Given the description of an element on the screen output the (x, y) to click on. 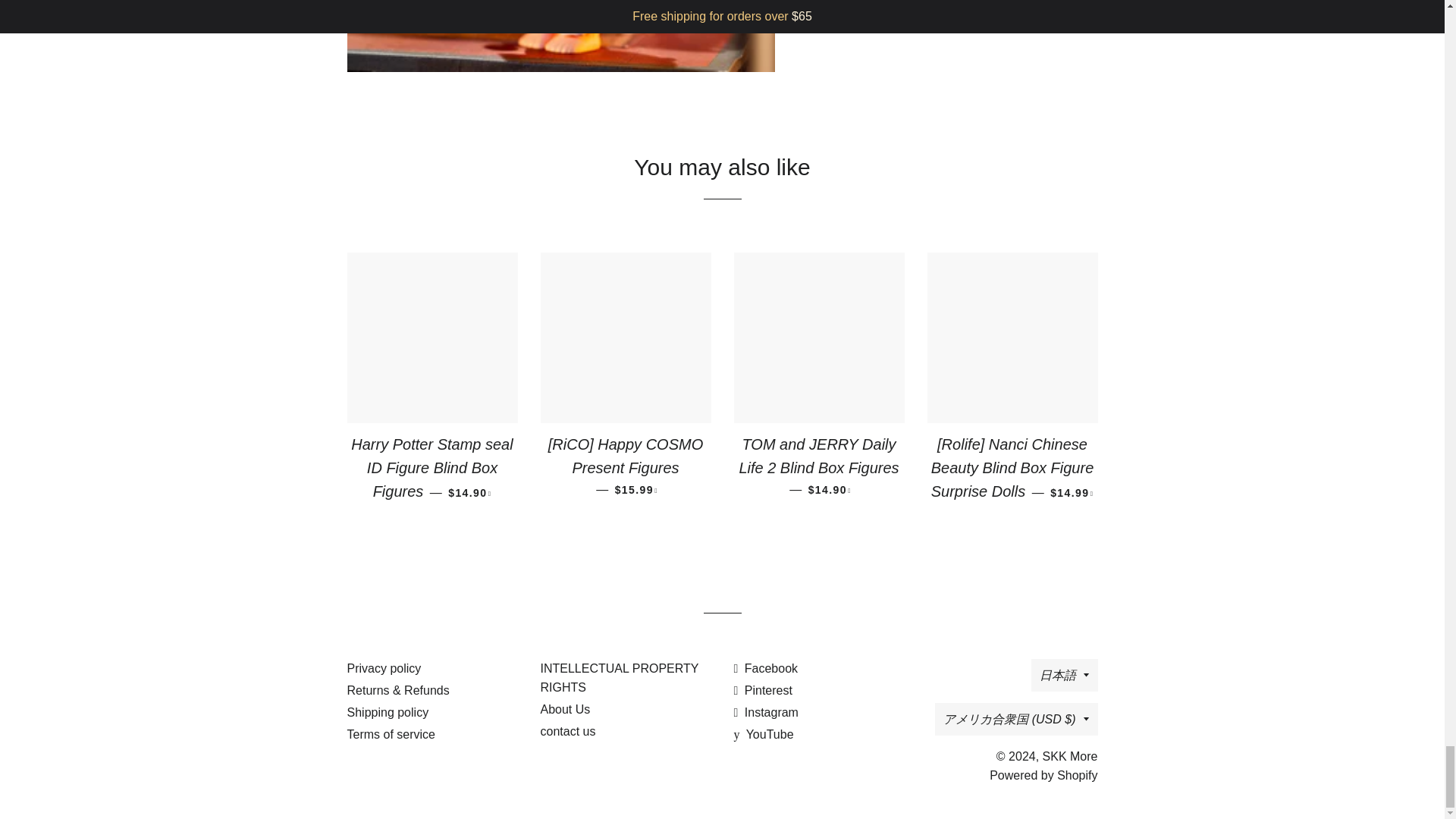
SKK More on Instagram (765, 712)
SKK More on Pinterest (762, 689)
SKK More on YouTube (763, 734)
SKK More on Facebook (765, 667)
